Given the description of an element on the screen output the (x, y) to click on. 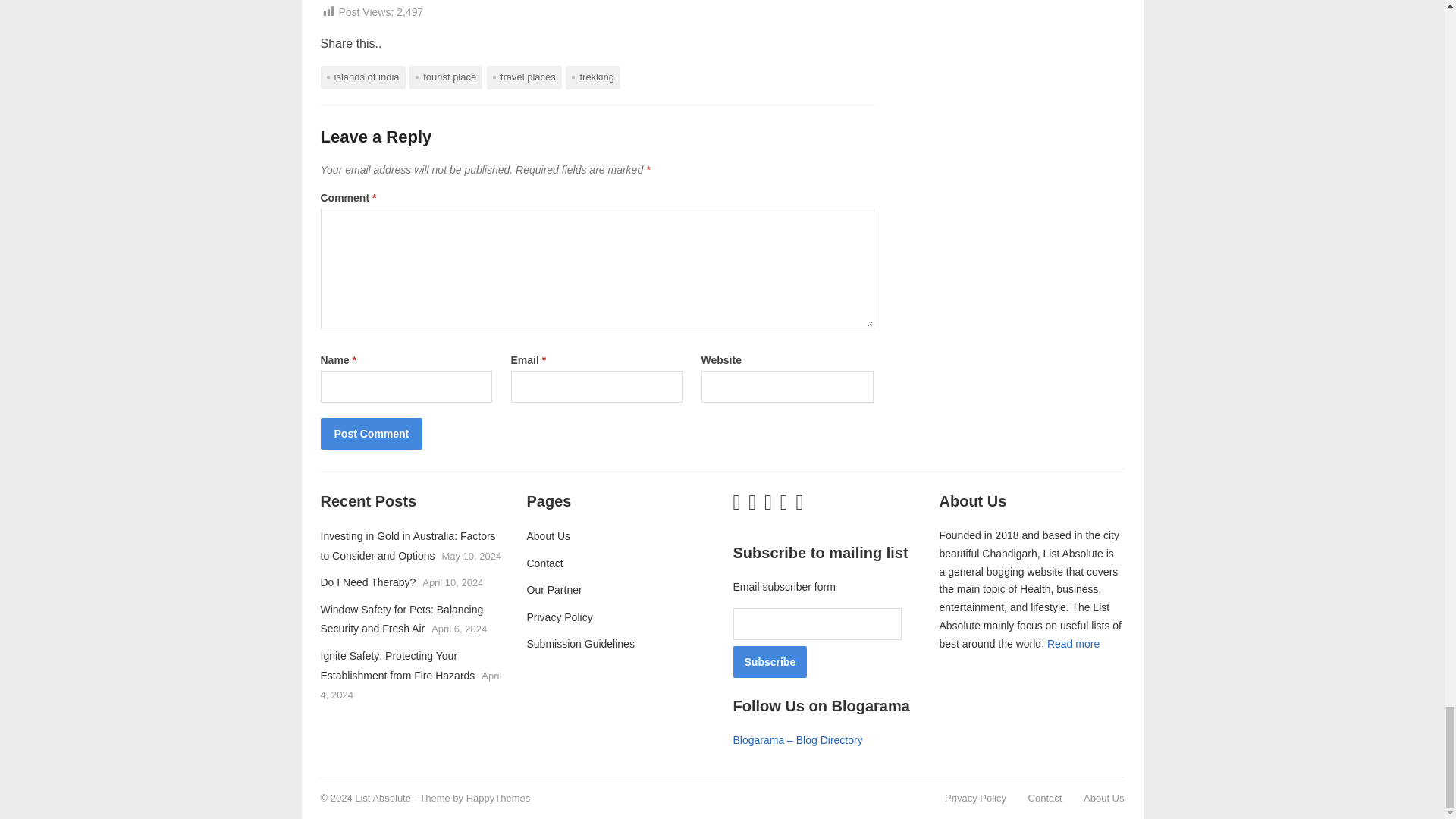
Subscribe (769, 662)
Post Comment (371, 433)
